Given the description of an element on the screen output the (x, y) to click on. 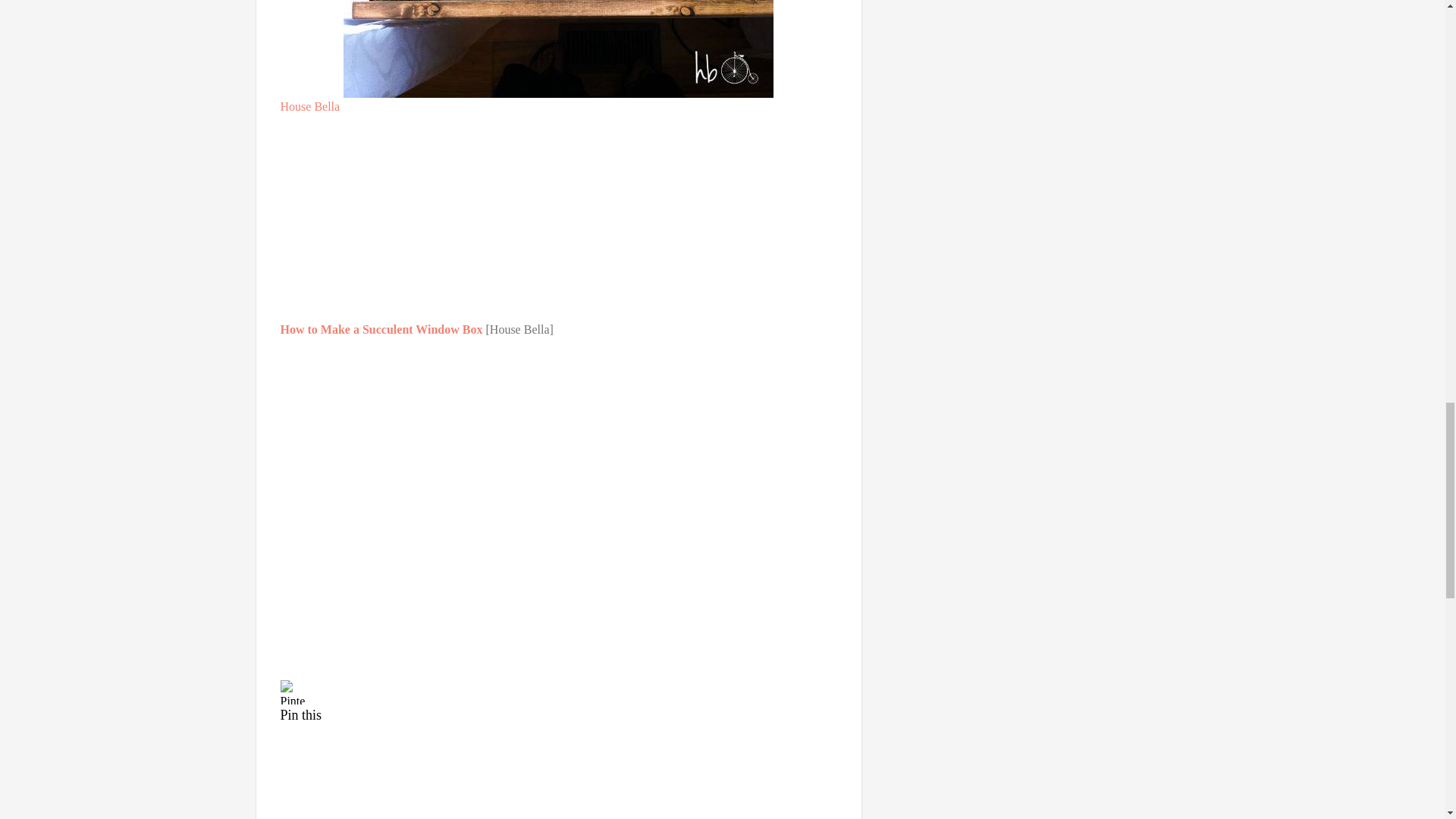
House Bella (310, 106)
How to Make a Succulent Window Box (383, 328)
Pin this (559, 700)
